Given the description of an element on the screen output the (x, y) to click on. 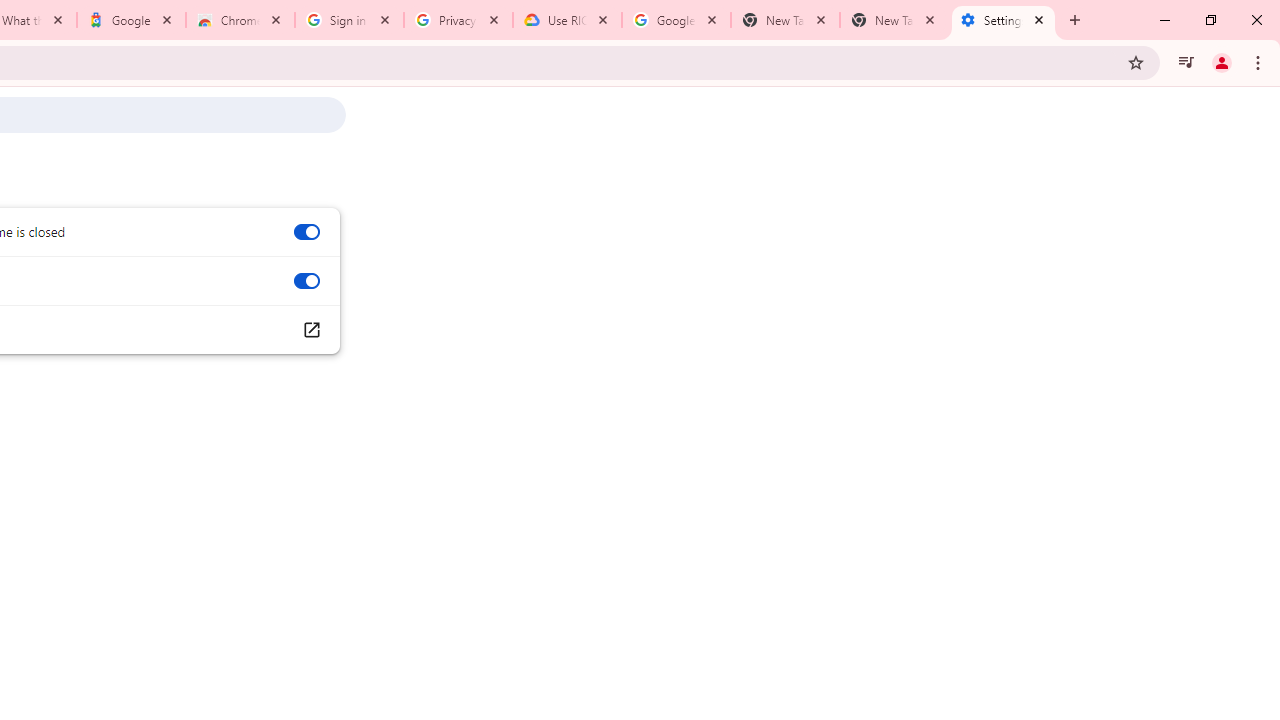
Chrome Web Store - Color themes by Chrome (240, 20)
